Given the description of an element on the screen output the (x, y) to click on. 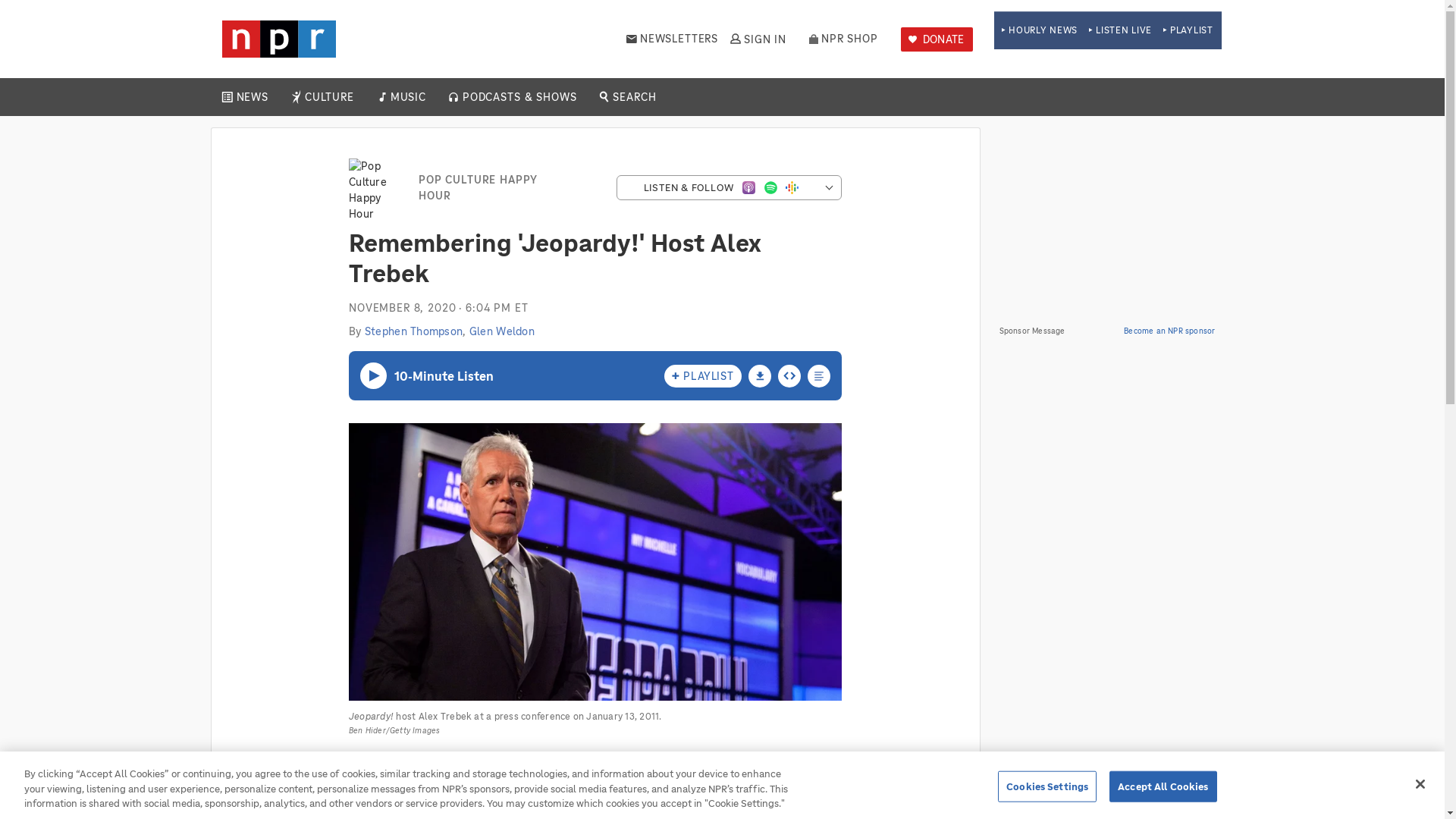
HOURLY NEWS (1039, 30)
NEWS (251, 96)
PLAYLIST (1187, 30)
CULTURE (328, 96)
LISTEN LIVE (1120, 30)
MUSIC (407, 96)
DONATE (936, 39)
NEWSLETTERS (671, 38)
NPR SHOP (843, 38)
SIGN IN (757, 38)
